Given the description of an element on the screen output the (x, y) to click on. 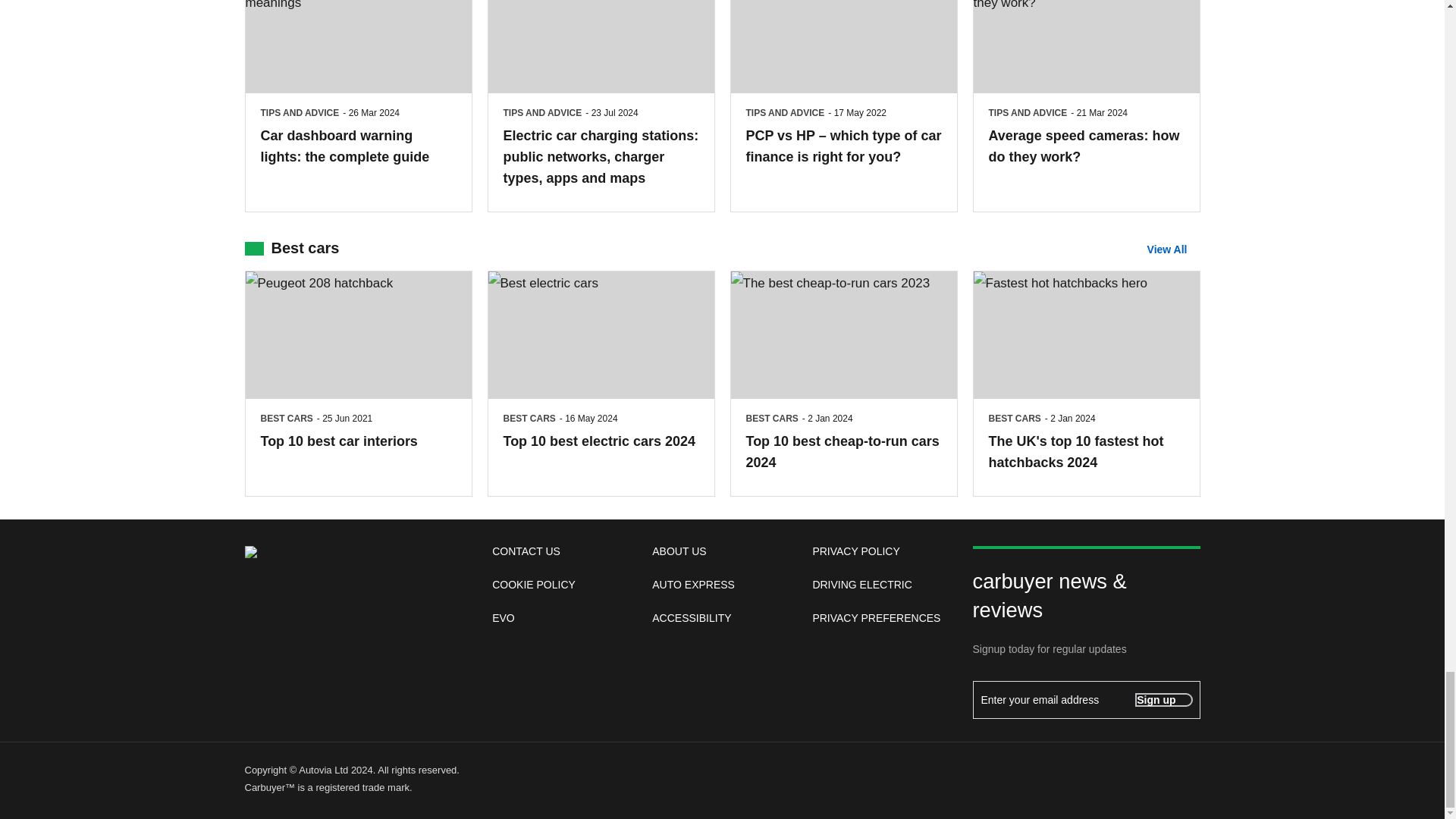
Subscribe (1085, 699)
Subscribe (1163, 699)
